Given the description of an element on the screen output the (x, y) to click on. 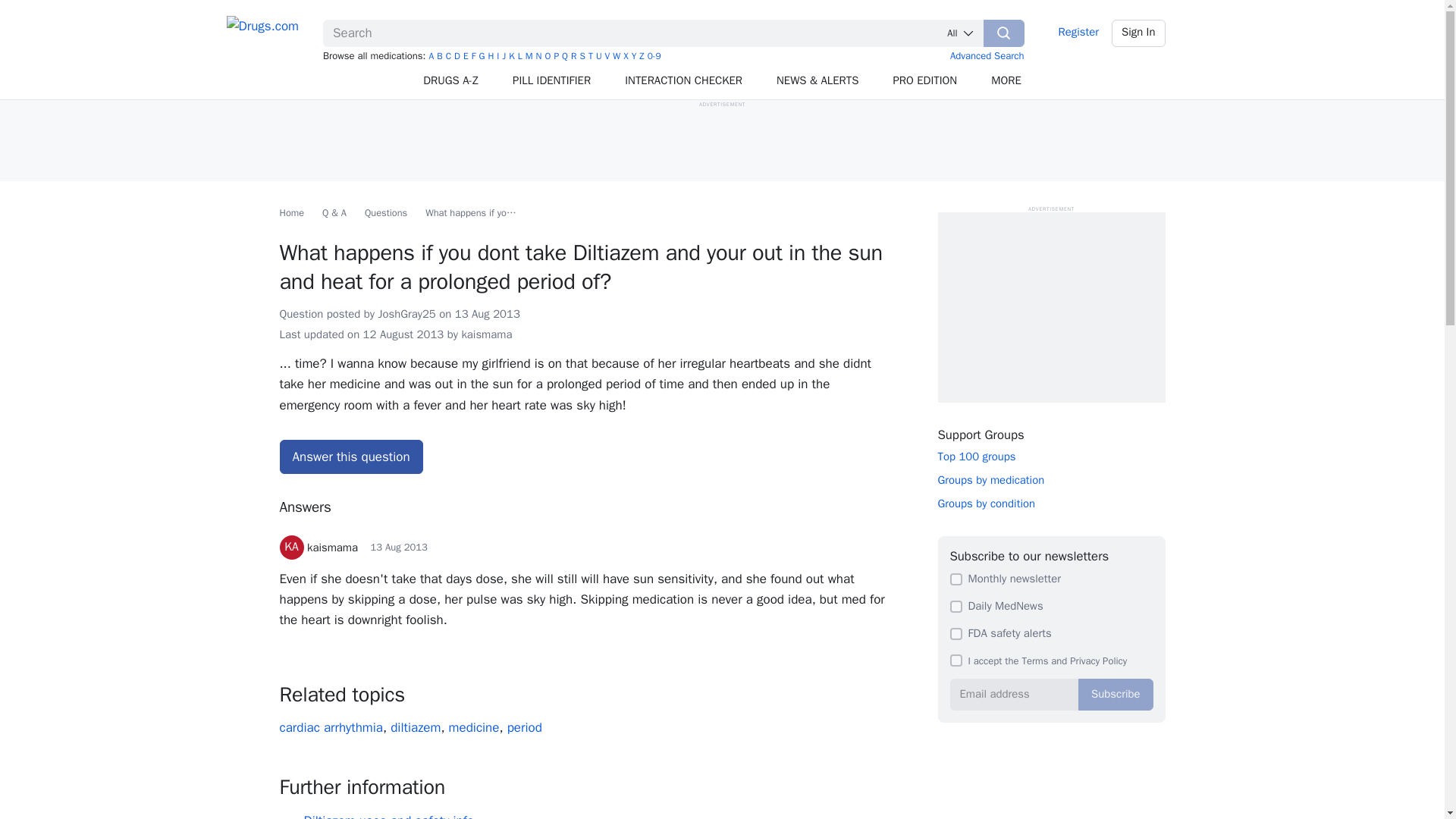
Advanced Search (987, 55)
Search (1004, 32)
12 August 2013 7:32pm (486, 314)
PILL IDENTIFIER (551, 81)
12 August 2013 7:45pm (399, 546)
12 August 2013 7:45pm (403, 334)
Register (1078, 32)
DRUGS A-Z (450, 81)
Sign In (1139, 32)
0-9 (654, 55)
